Given the description of an element on the screen output the (x, y) to click on. 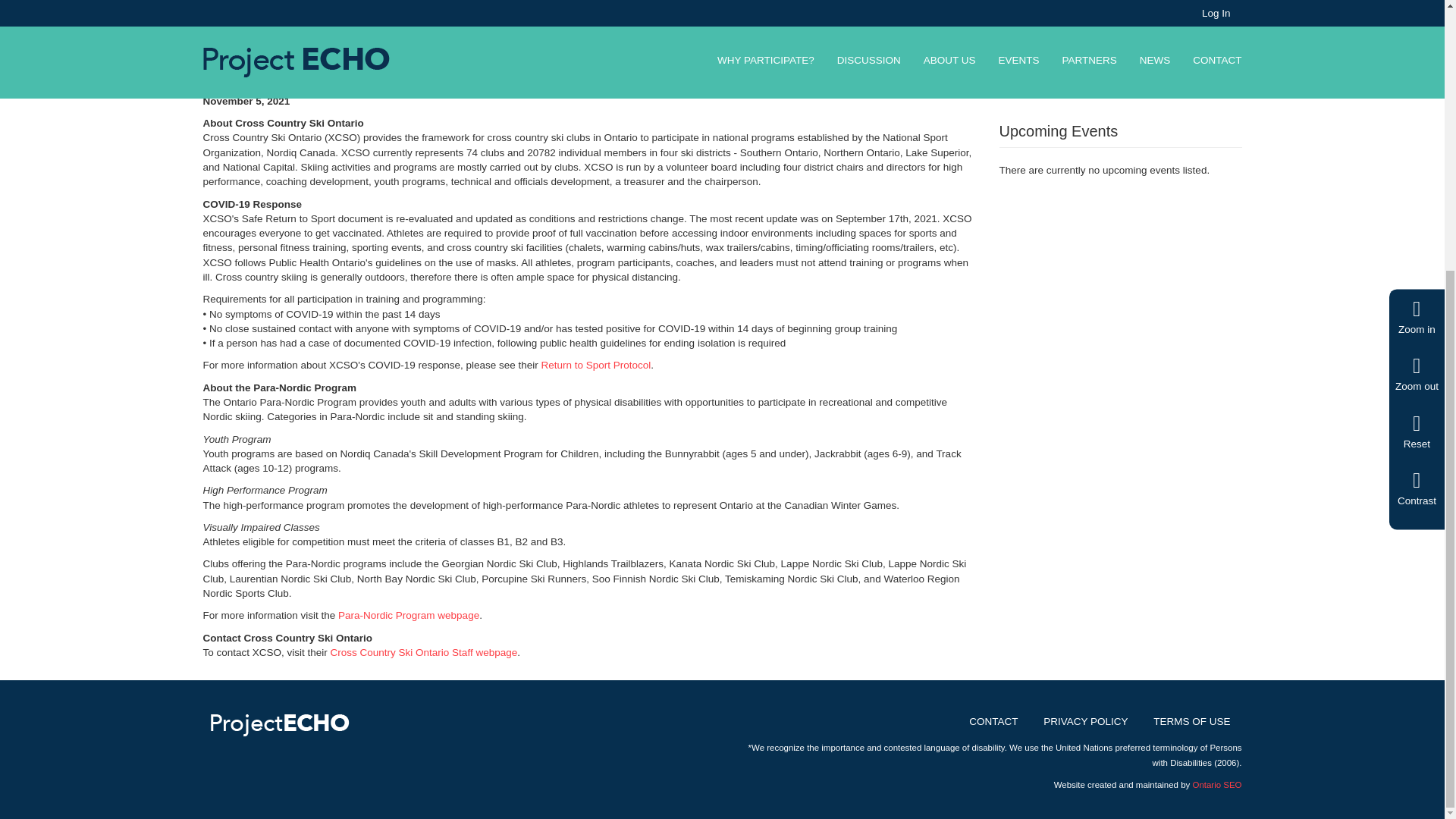
Return to Sport Protocol (595, 365)
Cross Country Ski Ontario Staff webpage (424, 652)
23 (1234, 62)
Para-Nordic Program webpage (408, 614)
28 (1234, 2)
TERMS OF USE (1191, 721)
Reset (1416, 34)
Return-to-Play and Accessibility (1078, 61)
CONTACT (993, 721)
